Given the description of an element on the screen output the (x, y) to click on. 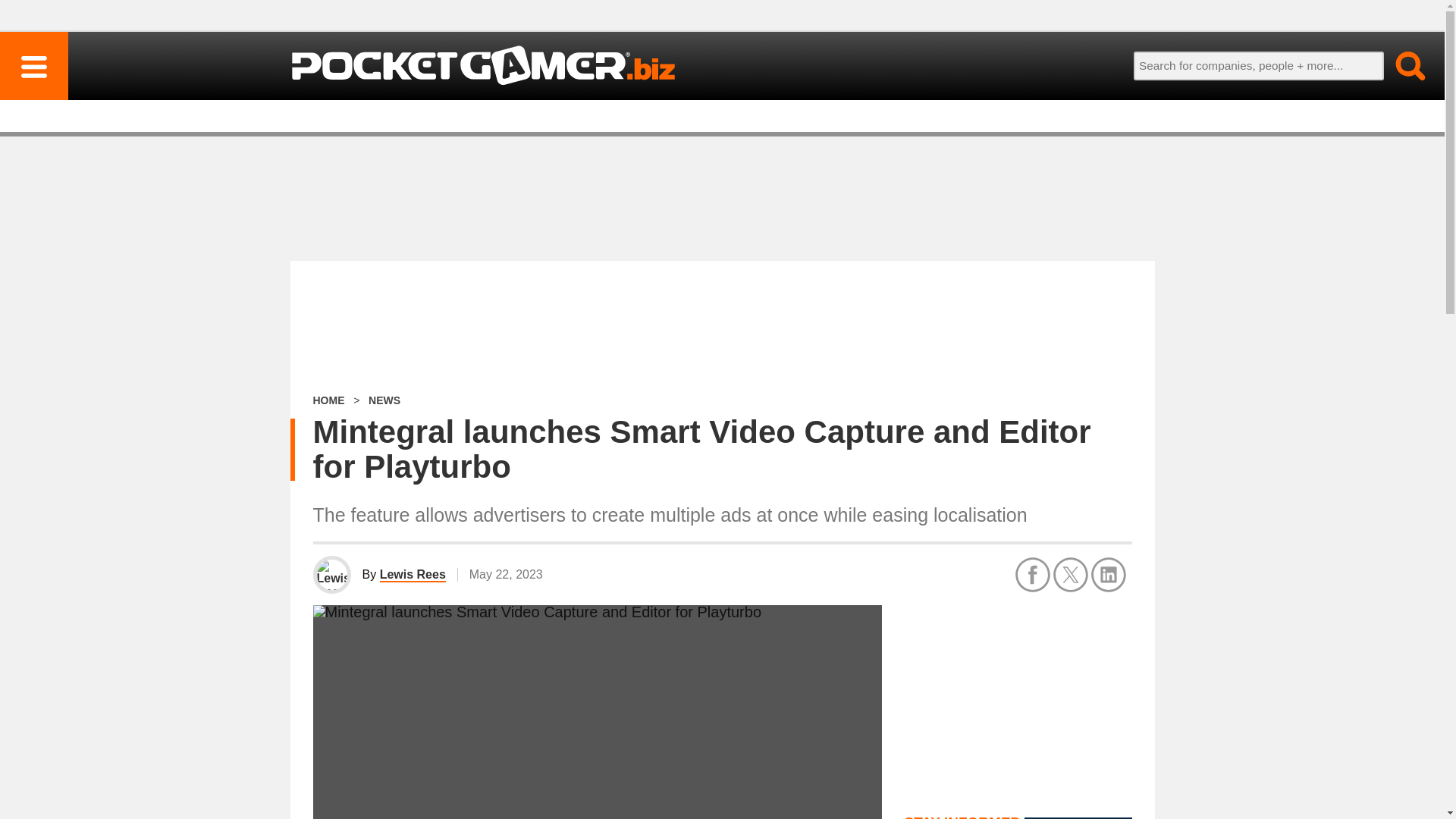
NEWS (384, 400)
Lewis Rees (412, 575)
HOME (328, 400)
Go (1402, 65)
Go (1402, 65)
